Given the description of an element on the screen output the (x, y) to click on. 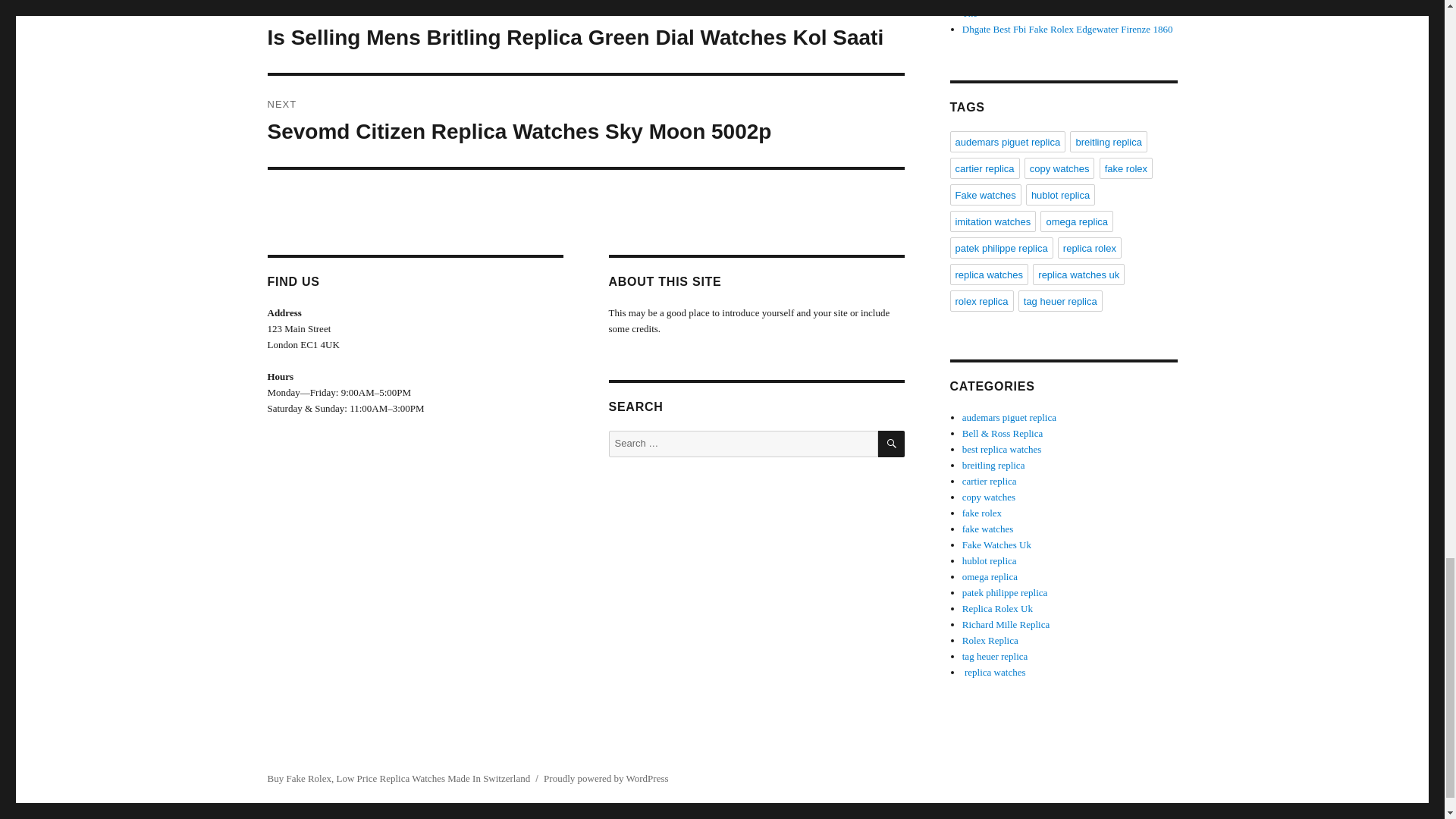
SEARCH (890, 443)
